Given the description of an element on the screen output the (x, y) to click on. 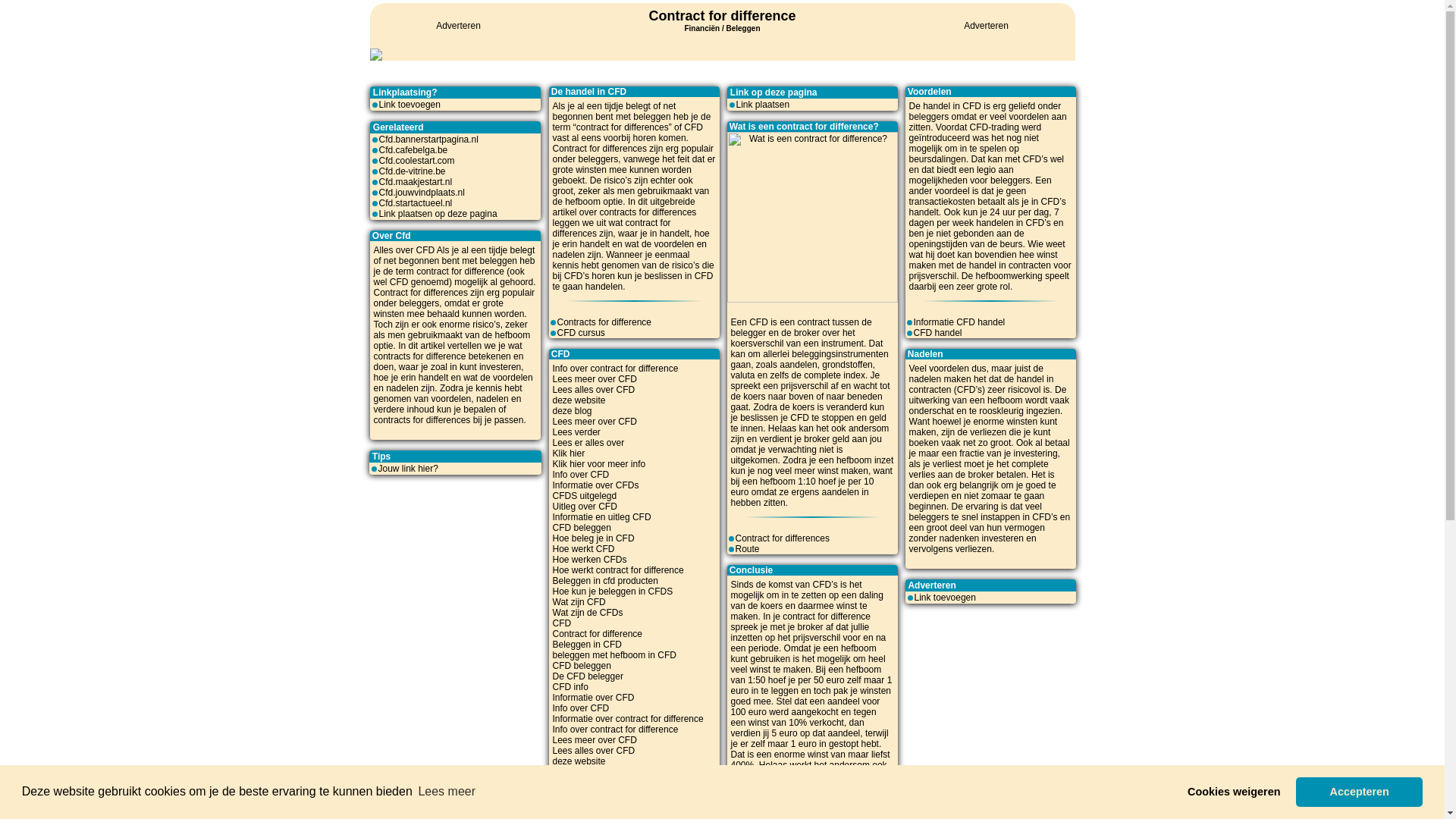
Lees er alles over Element type: text (588, 803)
Cfd.startactueel.nl Element type: text (415, 202)
deze blog Element type: text (571, 410)
Klik hier voor meer info Element type: text (598, 463)
Informatie over CFD Element type: text (592, 697)
Contract for difference Element type: text (721, 15)
Beleggen Element type: text (743, 28)
Informatie en uitleg CFD Element type: text (601, 516)
Lees meer over CFD Element type: text (594, 378)
Uitleg over CFD Element type: text (584, 506)
Hoe werken CFDs Element type: text (589, 559)
Lees verder Element type: text (575, 431)
Wat zijn de CFDs Element type: text (587, 612)
Beleggen in CFD Element type: text (586, 644)
Beleggen in cfd producten Element type: text (604, 580)
Lees alles over CFD Element type: text (593, 389)
CFD beleggen Element type: text (581, 527)
Contract for differences Element type: text (782, 538)
Adverteren Element type: text (985, 25)
aandelen Element type: text (797, 364)
CFD info Element type: text (569, 686)
Info over contract for difference Element type: text (614, 729)
Jouw link hier? Element type: text (407, 468)
aandelen Element type: text (840, 491)
deze website Element type: text (578, 400)
CFD cursus Element type: text (580, 332)
Link plaatsen Element type: text (762, 104)
Lees alles over CFD Element type: text (593, 750)
Contract for difference Element type: text (597, 633)
Lees meer Element type: text (446, 791)
De CFD belegger Element type: text (587, 676)
deze website Element type: text (578, 761)
beleggen Element type: text (651, 116)
Lees meer over CFD Element type: text (594, 782)
Cfd.de-vitrine.be Element type: text (412, 171)
Link toevoegen Element type: text (944, 597)
Informatie over contract for difference Element type: text (627, 718)
Cfd.maakjestart.nl Element type: text (415, 181)
Route Element type: text (747, 548)
Link toevoegen Element type: text (409, 104)
Lees verder Element type: text (575, 792)
Hoe werkt CFD Element type: text (583, 548)
Info over contract for difference Element type: text (614, 368)
Adverteren Element type: text (458, 25)
Cfd.bannerstartpagina.nl Element type: text (428, 139)
Cfd.coolestart.com Element type: text (417, 160)
Hoe beleg je in CFD Element type: text (592, 538)
Hoe werkt contract for difference Element type: text (617, 569)
CFDS uitgelegd Element type: text (584, 495)
Hoe kun je beleggen in CFDS Element type: text (612, 591)
Cookies weigeren Element type: text (1233, 791)
beleggen Element type: text (498, 260)
Info over CFD Element type: text (580, 474)
Cfd.jouwvindplaats.nl Element type: text (421, 192)
beleggen met hefboom in CFD Element type: text (613, 654)
Informatie over CFDs Element type: text (595, 485)
Info over CFD Element type: text (580, 707)
CFD Element type: text (561, 623)
Wat zijn CFD Element type: text (578, 601)
Informatie CFD handel Element type: text (958, 321)
Contracts for difference Element type: text (603, 321)
Accepteren Element type: text (1358, 791)
Lees meer over CFD Element type: text (594, 739)
deze blog Element type: text (571, 771)
CFD beleggen Element type: text (581, 665)
Lees er alles over Element type: text (588, 442)
Cfd.cafebelga.be Element type: text (413, 149)
Lees meer over CFD Element type: text (594, 421)
CFD handel Element type: text (937, 332)
Klik hier Element type: text (568, 453)
Link plaatsen op deze pagina Element type: text (438, 213)
